Given the description of an element on the screen output the (x, y) to click on. 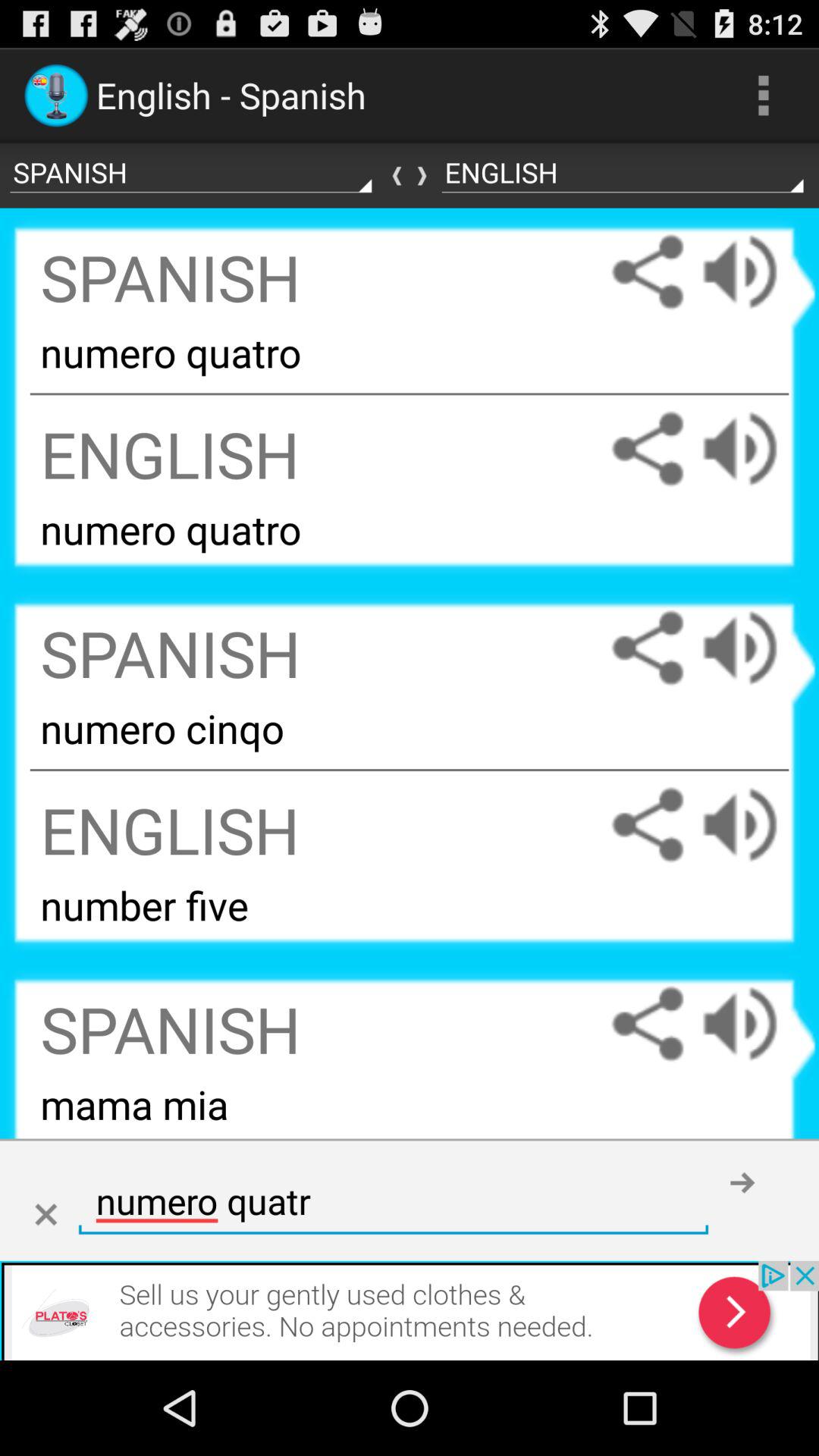
sound (754, 271)
